Given the description of an element on the screen output the (x, y) to click on. 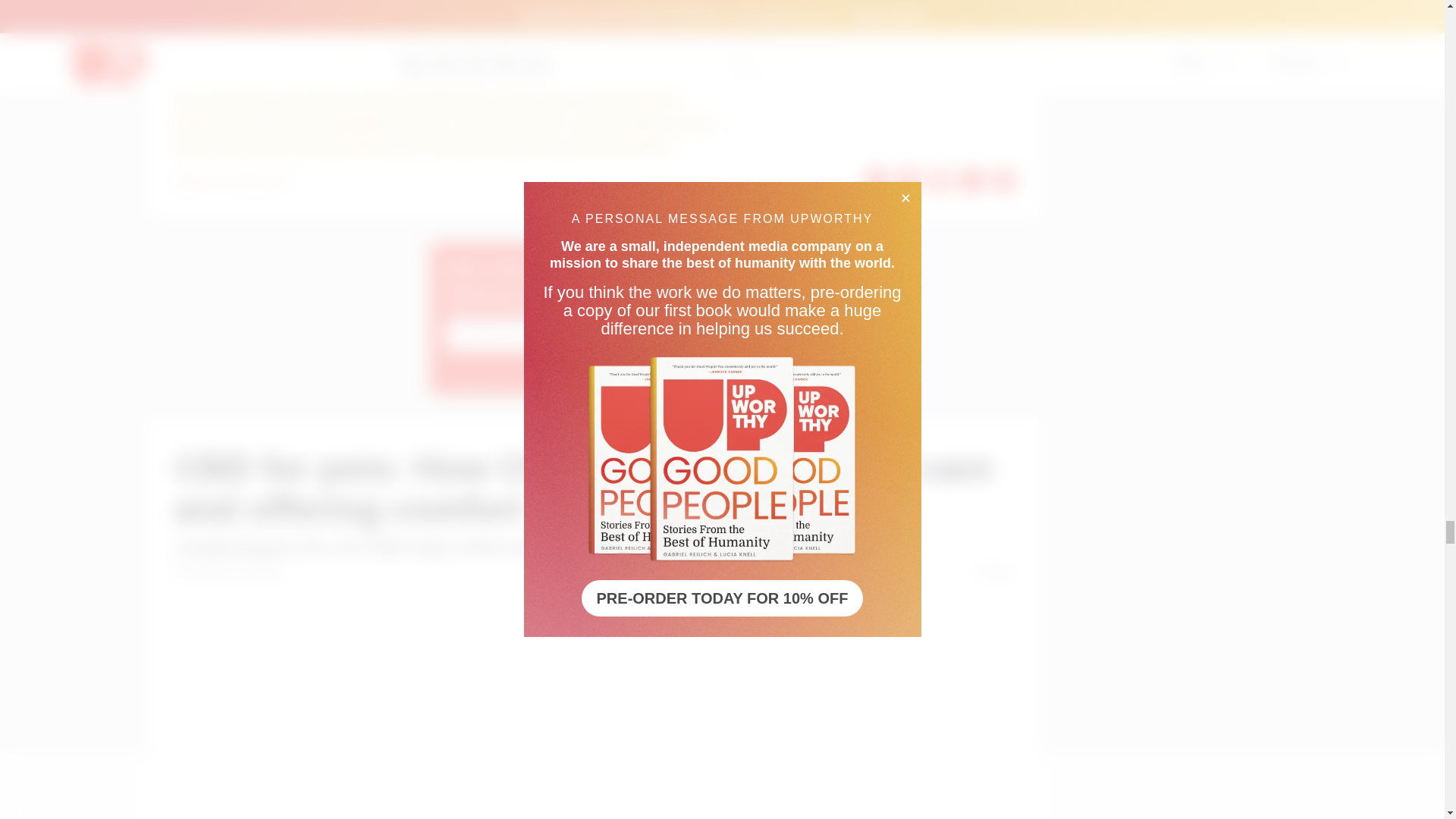
Copy this link to clipboard (1003, 180)
